Given the description of an element on the screen output the (x, y) to click on. 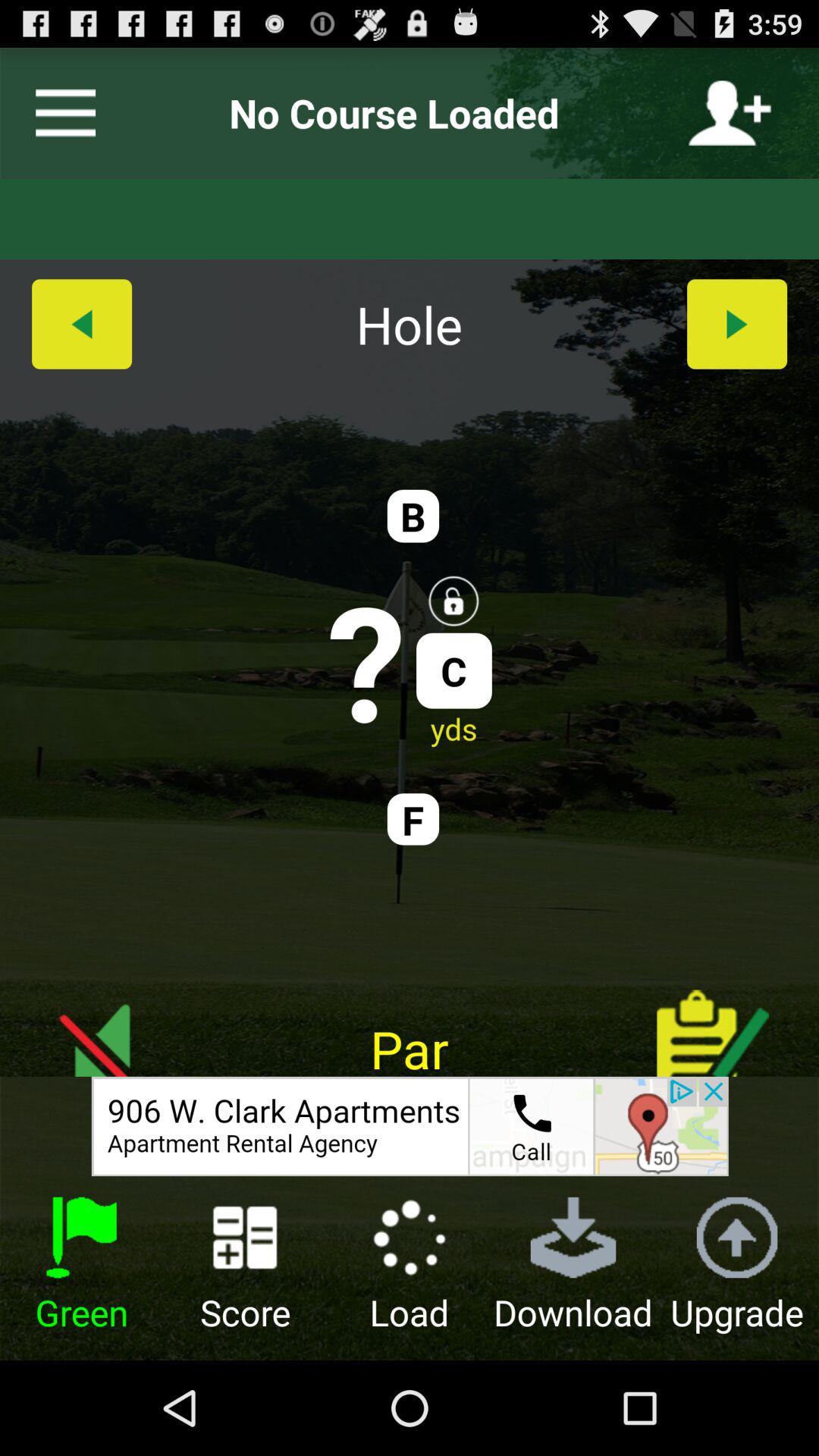
enable/disable sound (105, 1021)
